Given the description of an element on the screen output the (x, y) to click on. 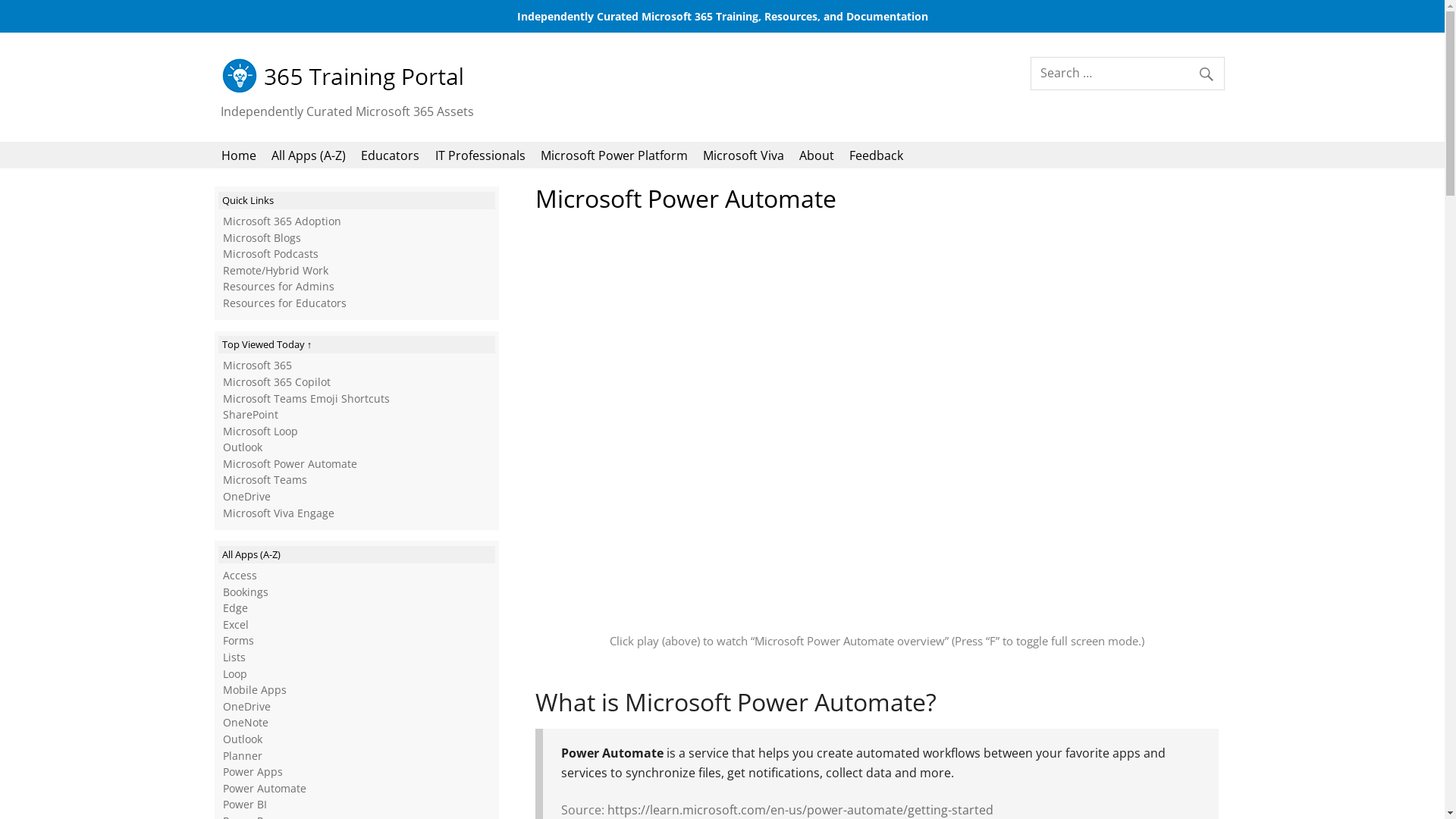
Power BI Element type: text (244, 804)
Power Apps Element type: text (252, 771)
Feedback Element type: text (876, 154)
Microsoft Power Platform Element type: text (613, 154)
Power Automate Element type: text (264, 788)
Resources for Educators Element type: text (284, 302)
OneDrive Element type: text (246, 496)
Forms Element type: text (238, 640)
Planner Element type: text (242, 754)
Microsoft 365 Element type: text (256, 364)
Microsoft 365 Adoption Element type: text (281, 220)
Mobile Apps Element type: text (254, 689)
IT Professionals Element type: text (479, 154)
Microsoft Podcasts Element type: text (270, 253)
Outlook Element type: text (242, 446)
Excel Element type: text (235, 624)
SharePoint Element type: text (250, 414)
Microsoft Power Automate Element type: text (289, 463)
OneDrive Element type: text (246, 706)
Remote/Hybrid Work Element type: text (275, 270)
Edge Element type: text (234, 607)
Lists Element type: text (233, 656)
Home Element type: text (238, 154)
Microsoft Teams Element type: text (264, 479)
Microsoft Viva Engage Element type: text (278, 512)
OneNote Element type: text (245, 722)
Access Element type: text (239, 574)
Microsoft 365 Copilot Element type: text (276, 381)
Educators Element type: text (390, 154)
Microsoft Blogs Element type: text (261, 237)
Outlook Element type: text (242, 738)
Microsoft Viva Element type: text (742, 154)
Loop Element type: text (234, 673)
About Element type: text (816, 154)
Microsoft Teams Emoji Shortcuts Element type: text (305, 398)
Microsoft Loop Element type: text (260, 430)
All Apps (A-Z) Element type: text (308, 154)
Bookings Element type: text (245, 591)
365 Training Portal Element type: hover (344, 89)
Resources for Admins Element type: text (278, 286)
